Given the description of an element on the screen output the (x, y) to click on. 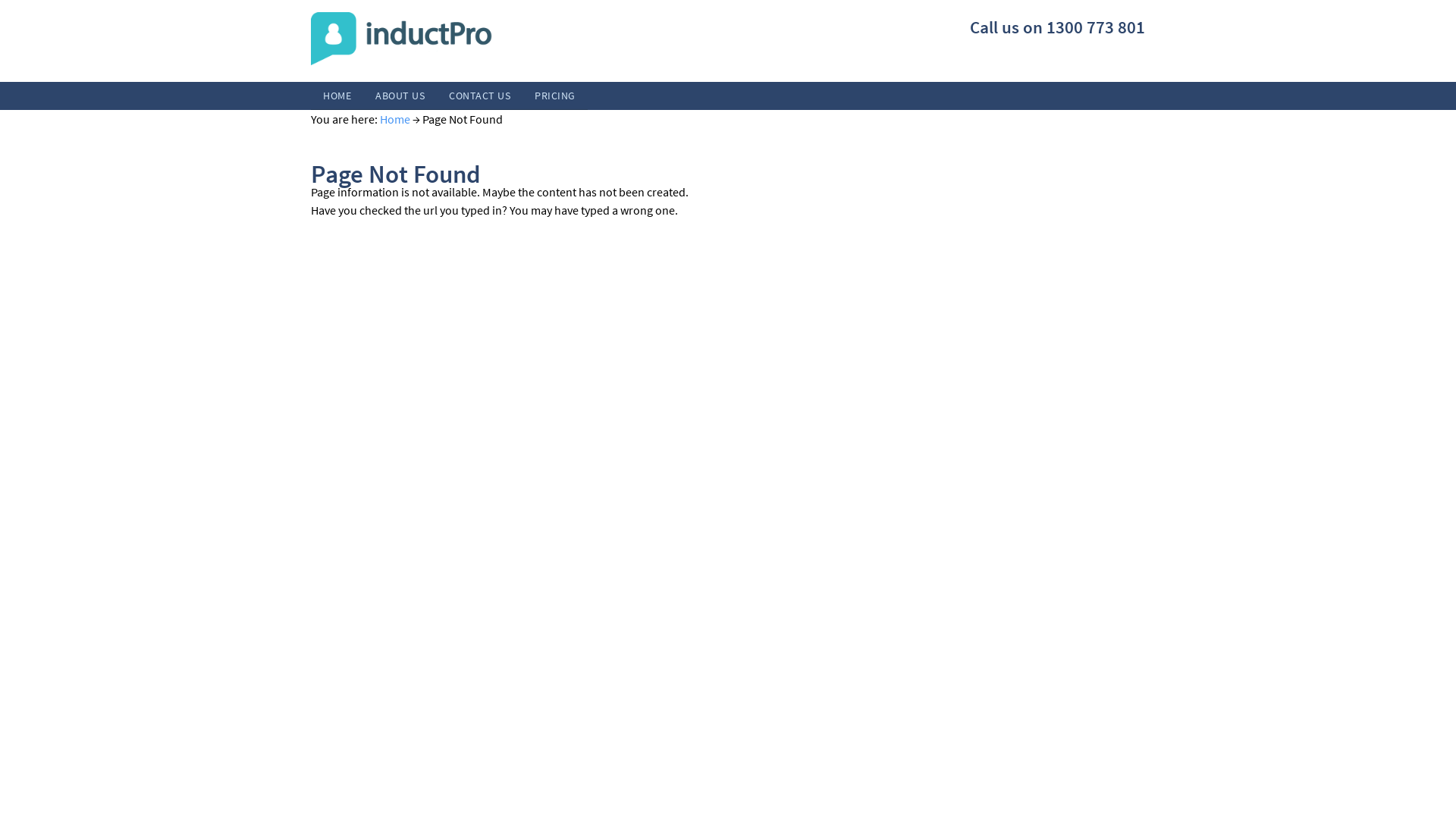
Home Element type: text (394, 118)
ABOUT US Element type: text (399, 95)
PRICING Element type: text (554, 95)
HOME Element type: text (336, 95)
CONTACT US Element type: text (479, 95)
